Given the description of an element on the screen output the (x, y) to click on. 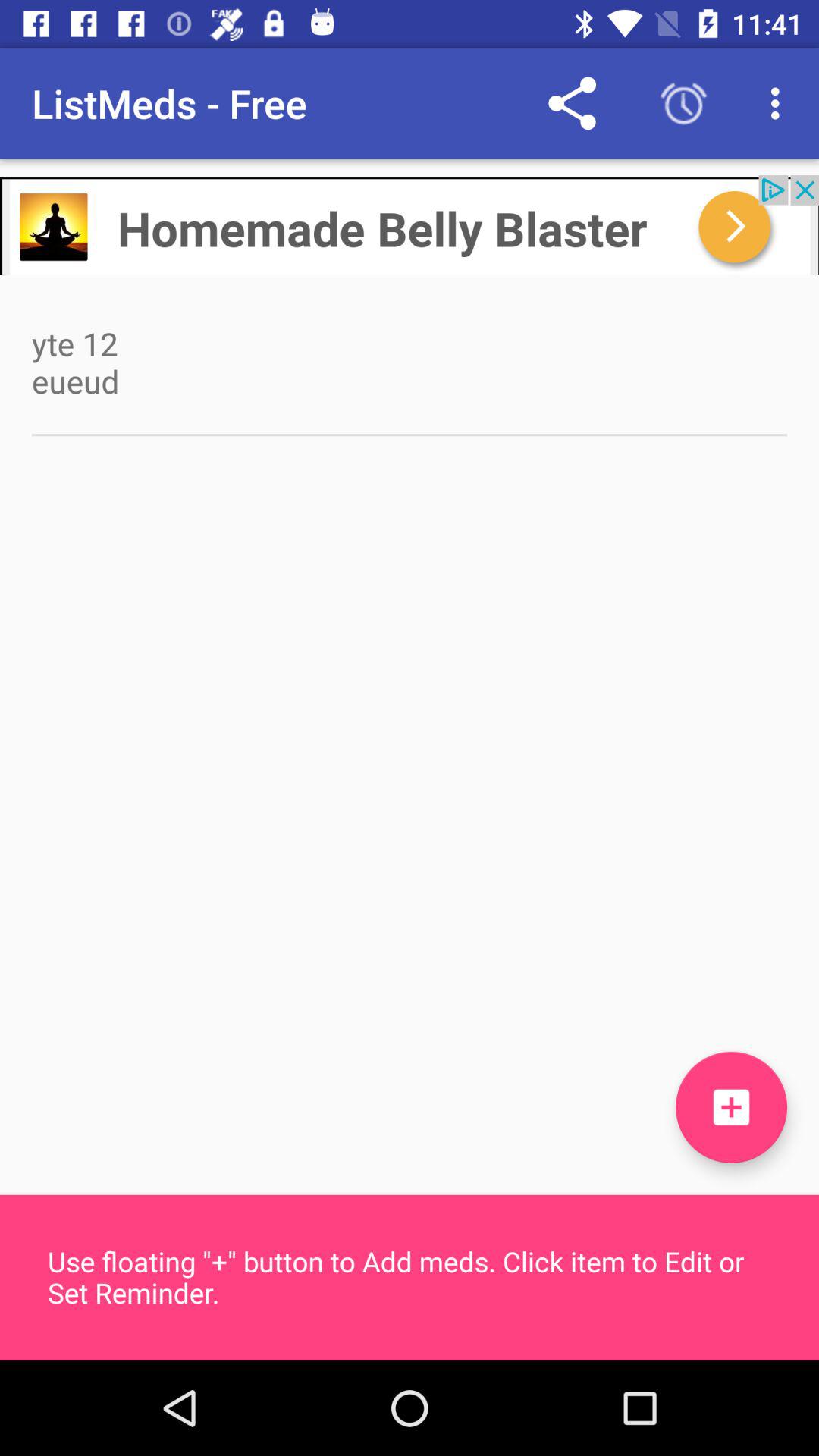
view the advertisement (409, 224)
